Given the description of an element on the screen output the (x, y) to click on. 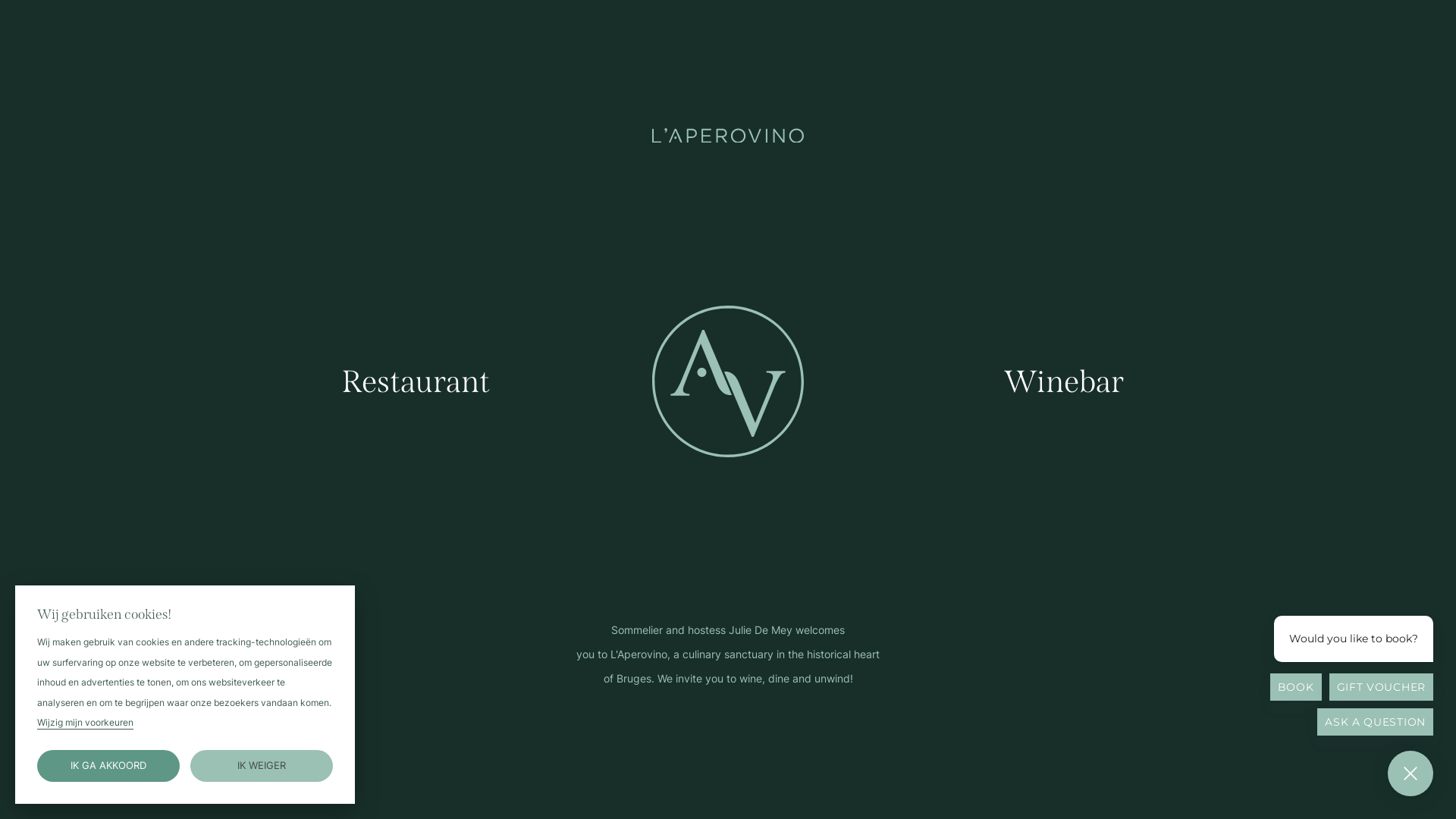
IK WEIGER Element type: text (261, 765)
Wijzig mijn voorkeuren Element type: text (85, 722)
Winebar Element type: text (1063, 381)
IK GA AKKOORD Element type: text (108, 765)
Restaurant Element type: text (415, 381)
